Given the description of an element on the screen output the (x, y) to click on. 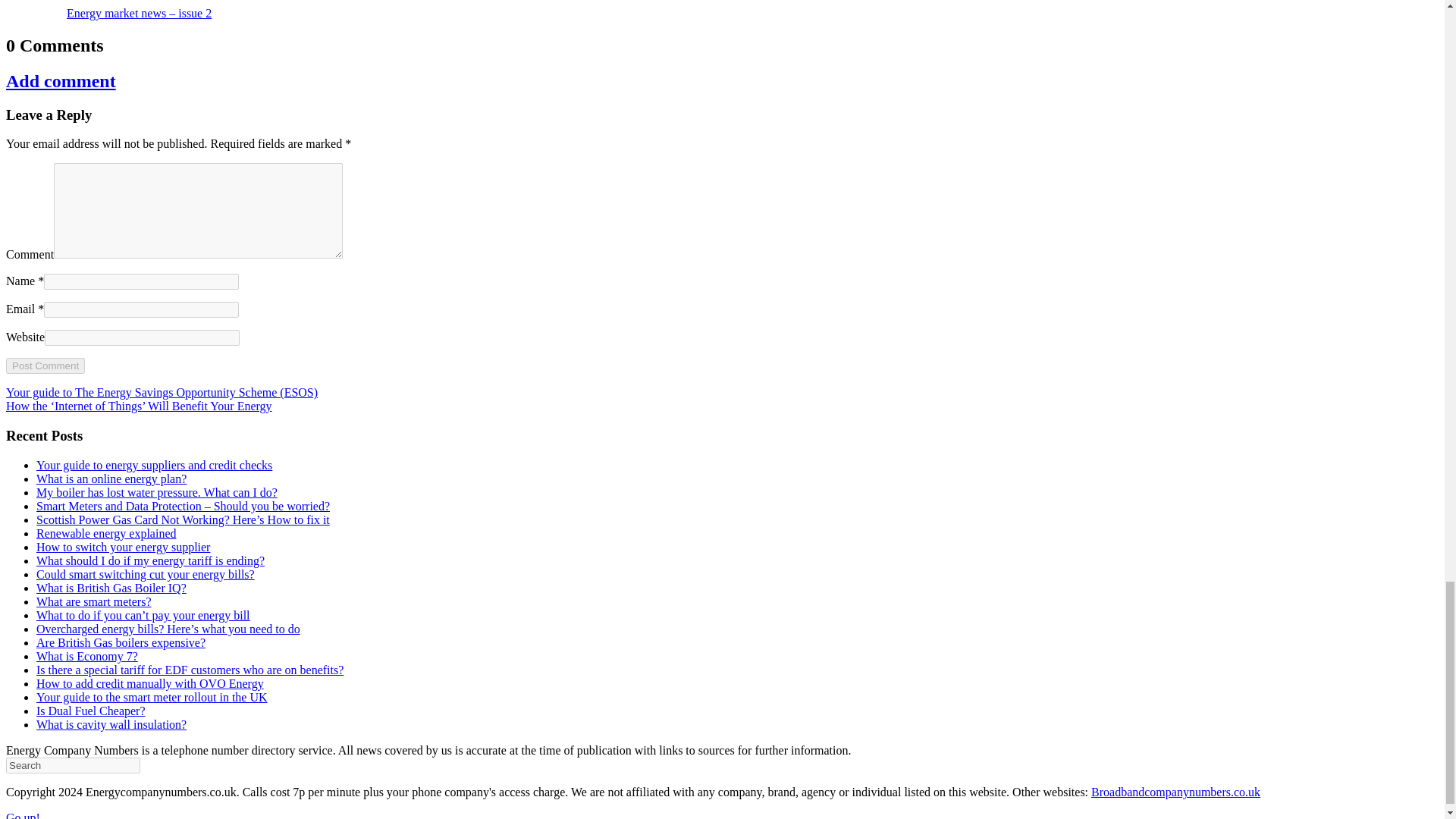
Search (72, 765)
Post Comment (44, 365)
